Given the description of an element on the screen output the (x, y) to click on. 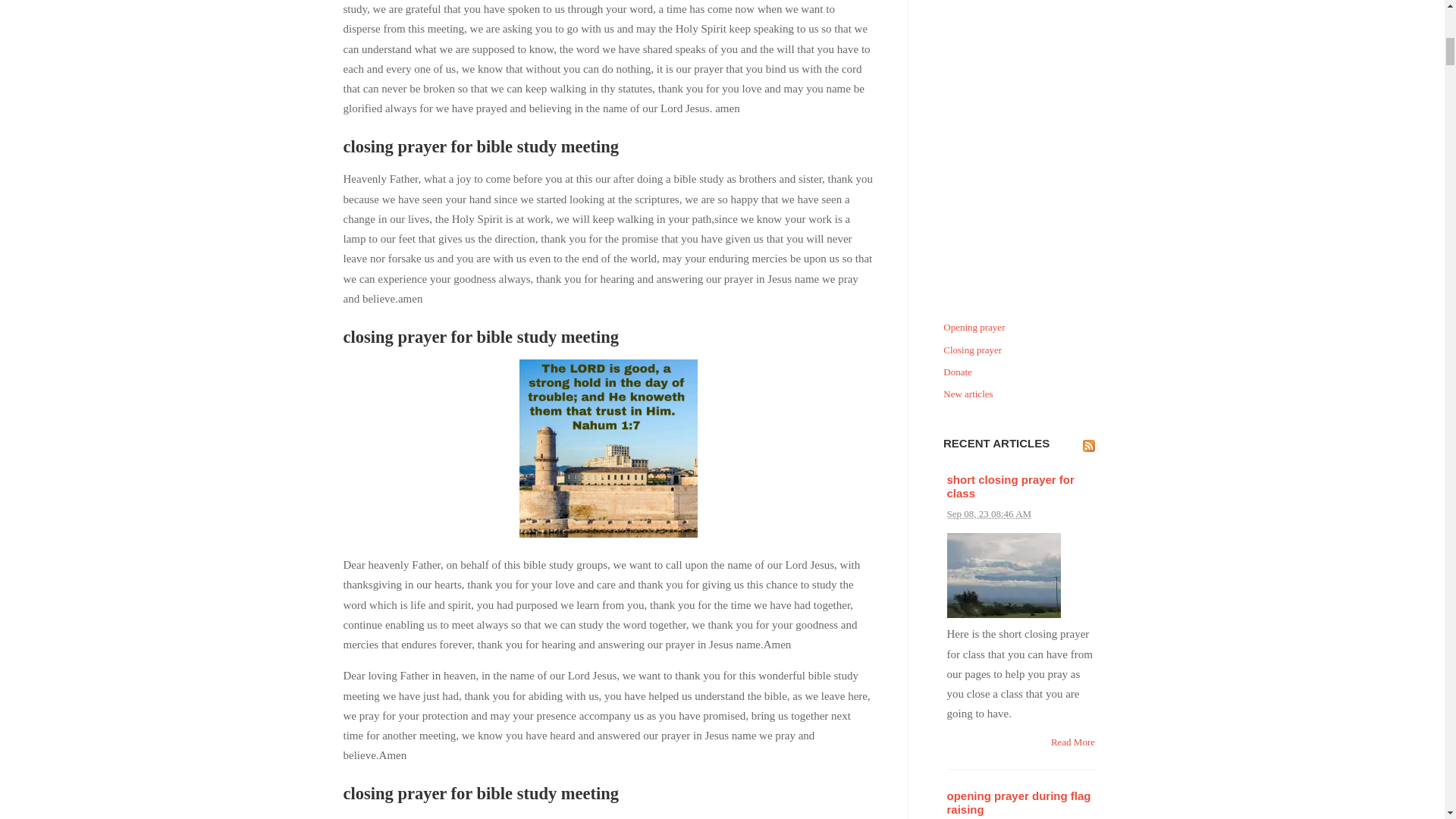
RECENT ARTICLES (996, 442)
short closing prayer for class (1010, 486)
New articles (1021, 394)
Donate (1021, 372)
Opening prayer (1021, 327)
opening prayer during flag raising (1018, 802)
Read More (1072, 741)
Closing prayer (1021, 349)
2023-09-08T08:46:21-0400 (988, 513)
